Given the description of an element on the screen output the (x, y) to click on. 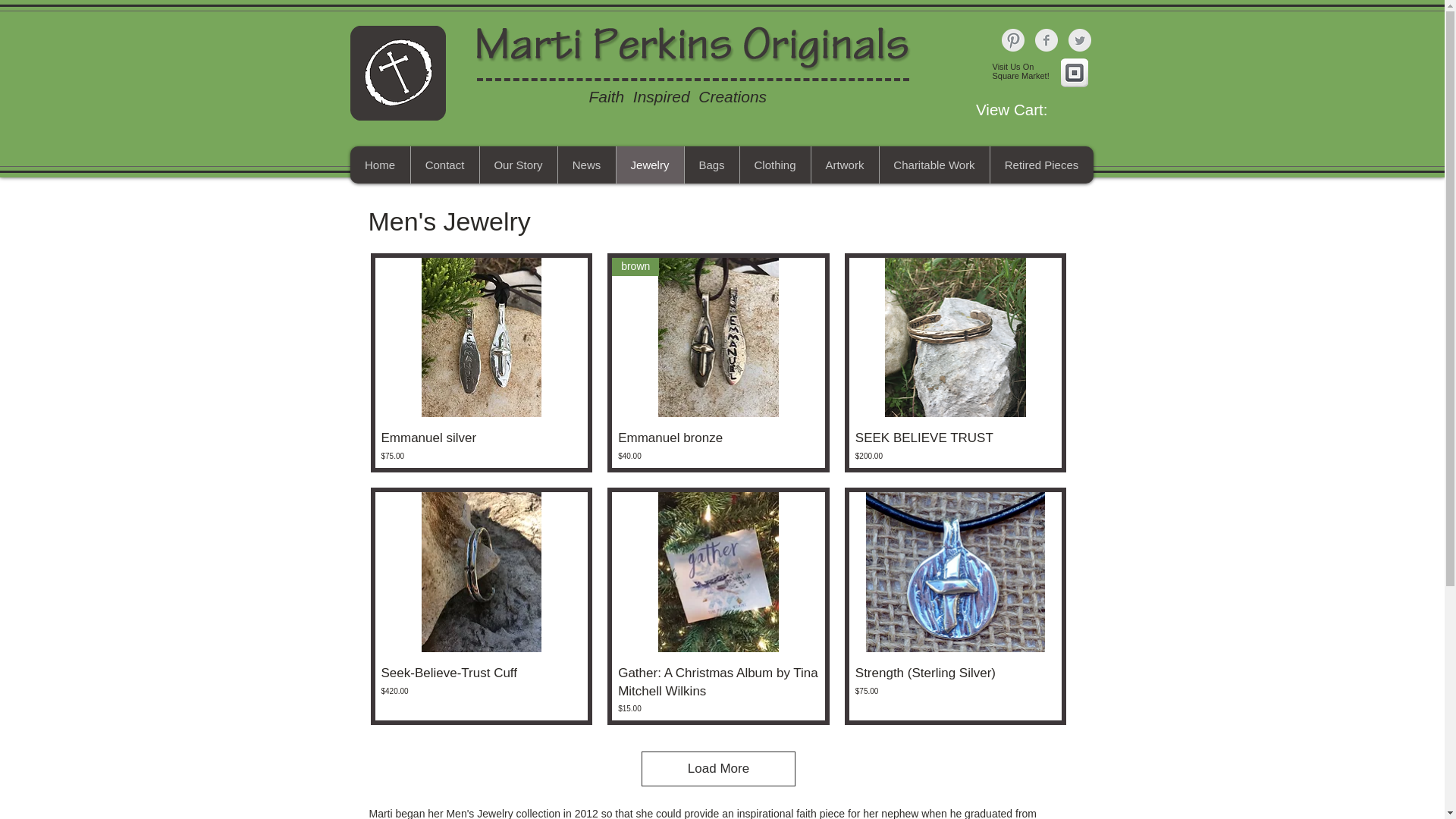
O with cross logo.png (397, 72)
Bags (711, 164)
Clothing (773, 164)
Jewelry (649, 164)
brown (718, 336)
News (585, 164)
View Cart: (1031, 109)
Charitable Work (932, 164)
Home (380, 164)
View Cart: (1031, 109)
Retired Pieces (1040, 164)
Contact (444, 164)
Our Story (518, 164)
Artwork (843, 164)
